Given the description of an element on the screen output the (x, y) to click on. 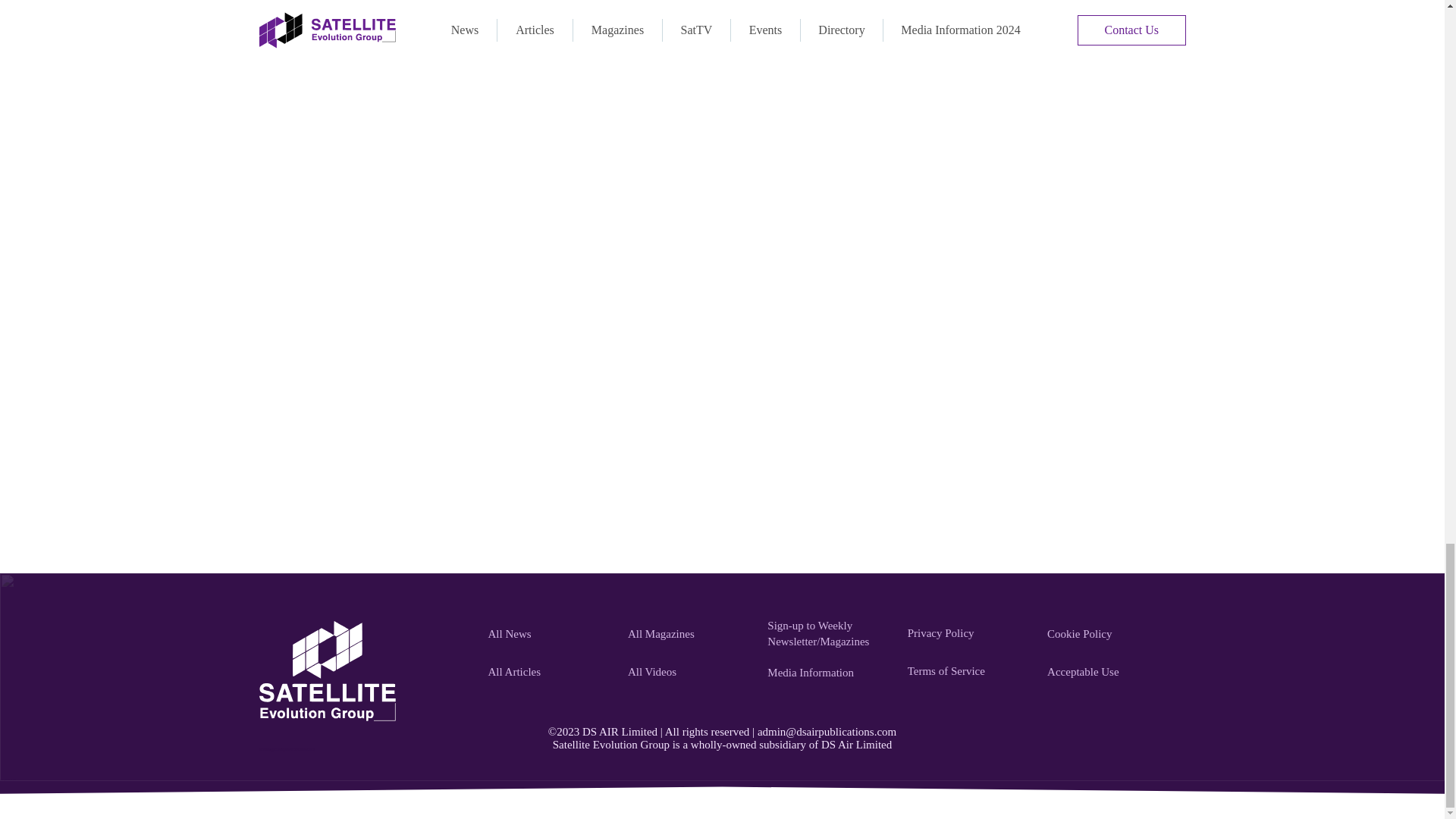
Acceptable Use (1108, 672)
All News (549, 634)
Cookie Policy (1108, 634)
Terms of Service (968, 671)
All Videos (689, 672)
All Articles (549, 672)
Privacy Policy (968, 633)
All Magazines (689, 634)
Media Information (828, 672)
